Given the description of an element on the screen output the (x, y) to click on. 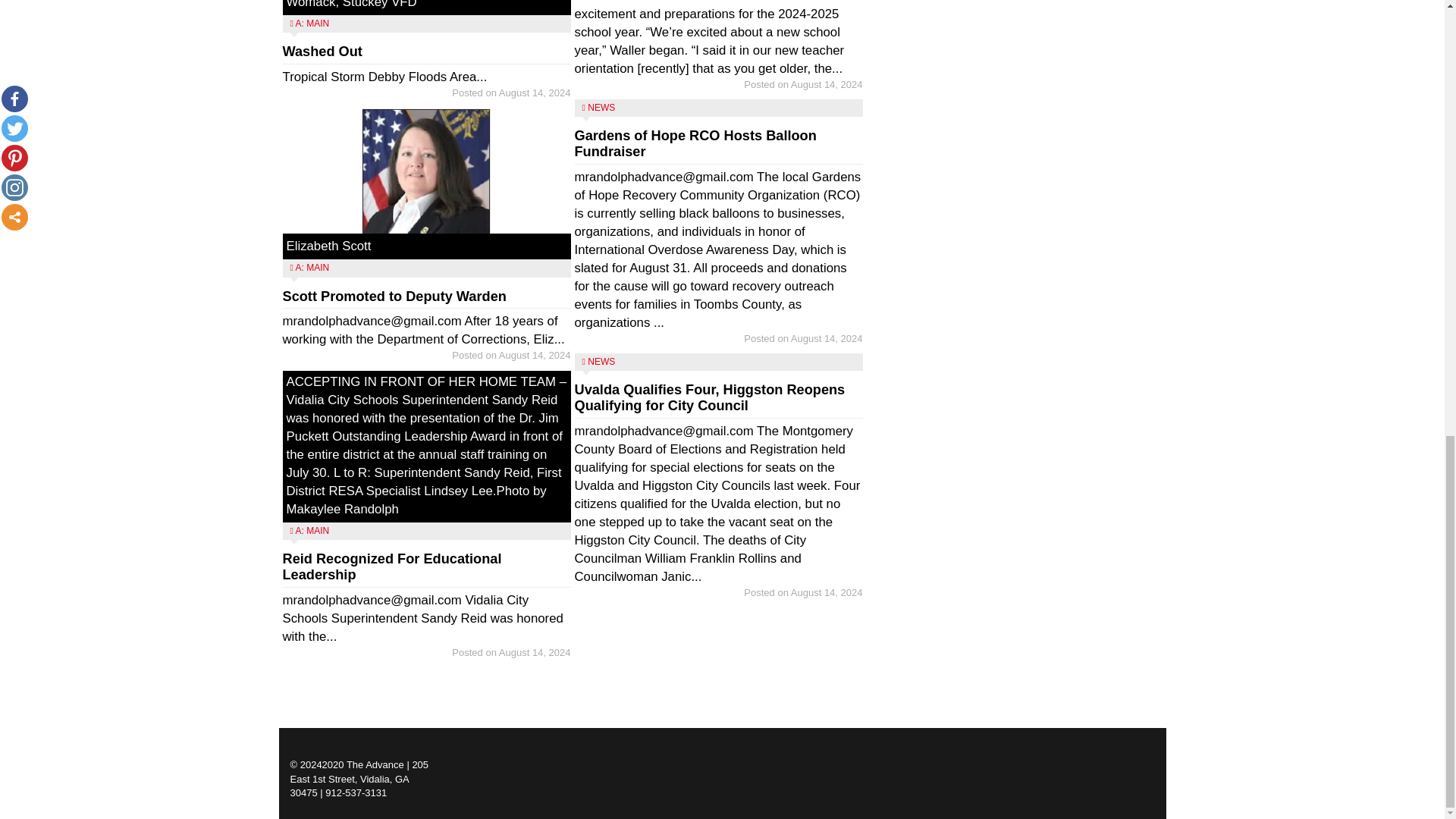
A: MAIN (312, 267)
A: MAIN (312, 23)
Scott Promoted to Deputy Warden (393, 296)
Washed Out (321, 51)
